Given the description of an element on the screen output the (x, y) to click on. 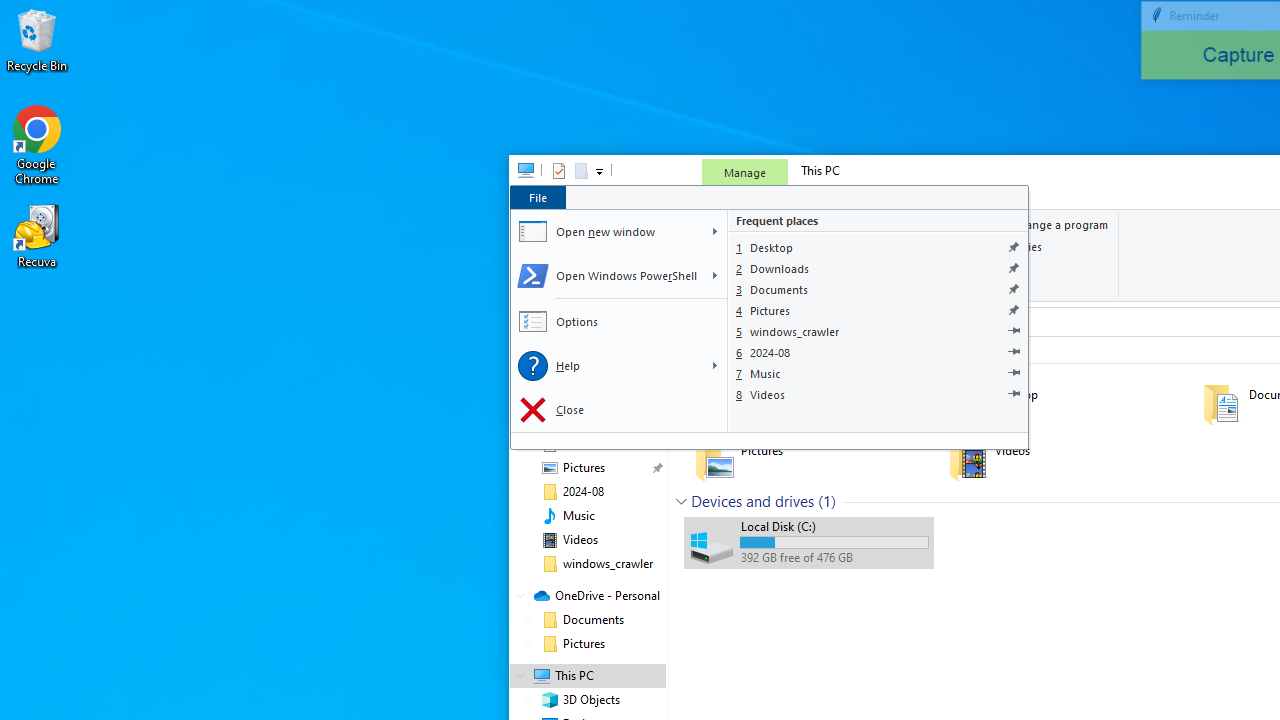
Open Windows PowerShell (606, 276)
Options (618, 322)
Desktop (878, 246)
W (714, 232)
